Given the description of an element on the screen output the (x, y) to click on. 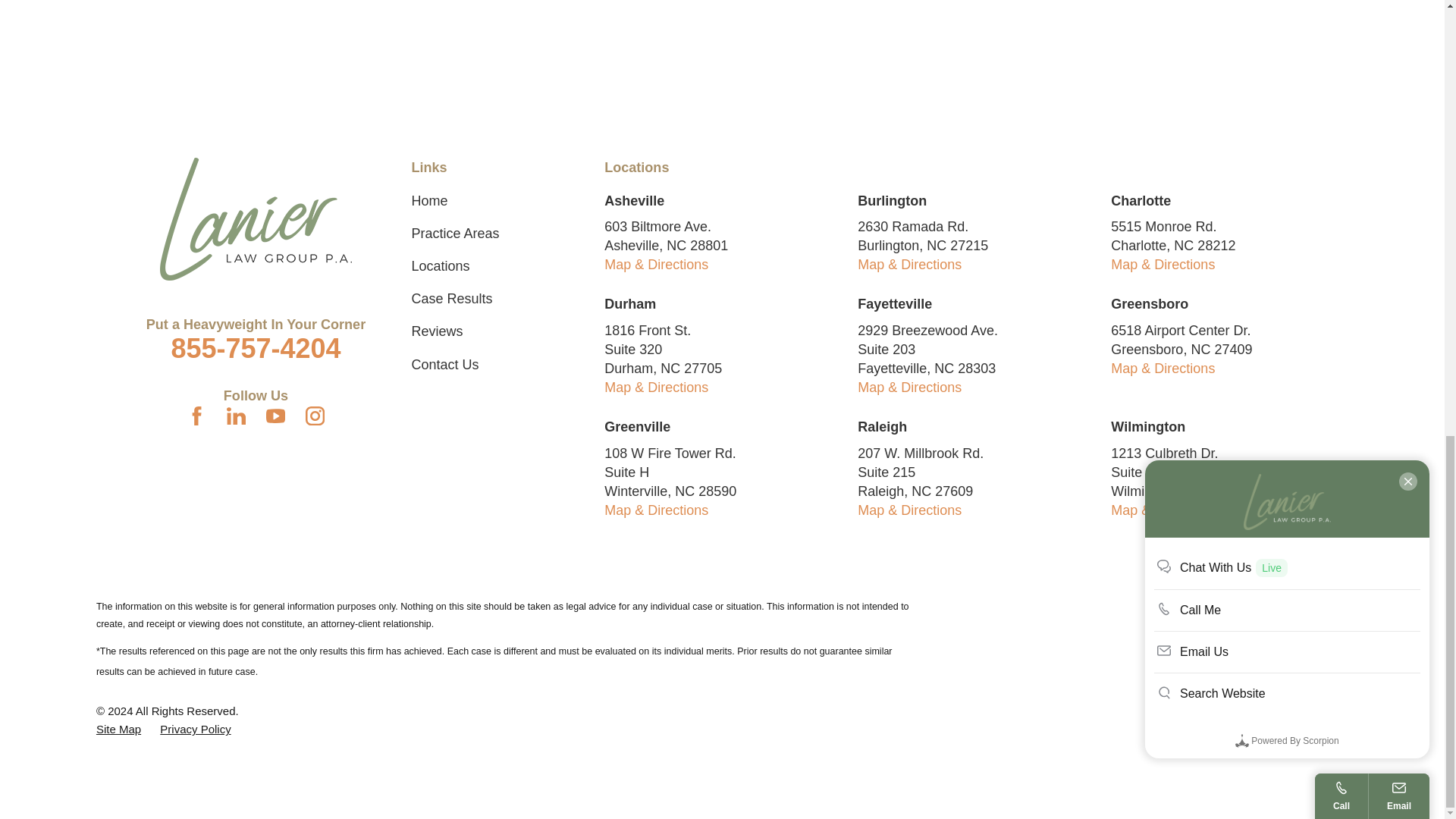
Facebook (196, 415)
LinkedIn (236, 415)
Home (256, 219)
Lanier Law Group, P.A. (256, 219)
